Given the description of an element on the screen output the (x, y) to click on. 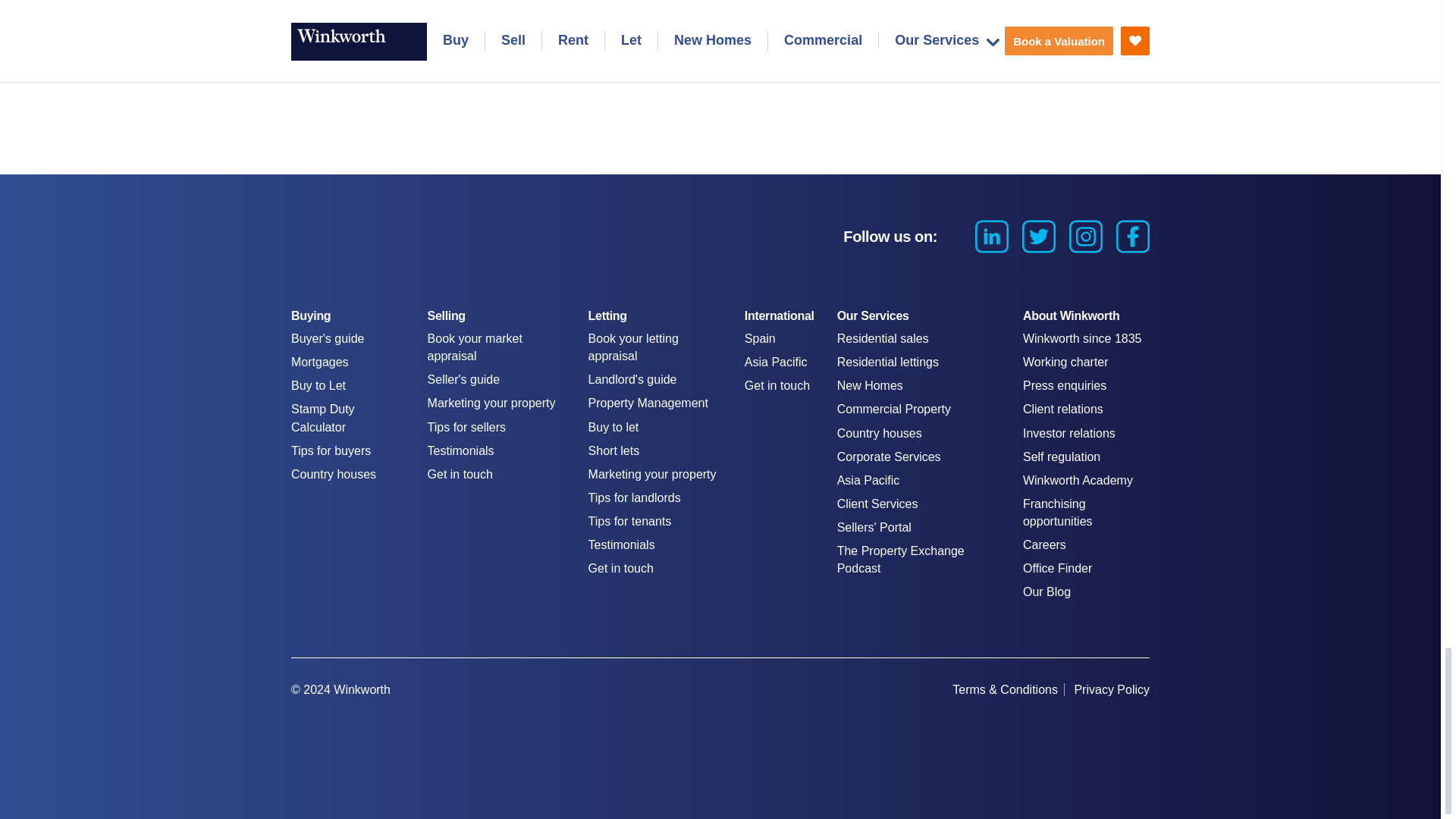
unrvld (1051, 723)
gtandi (1126, 723)
